Given the description of an element on the screen output the (x, y) to click on. 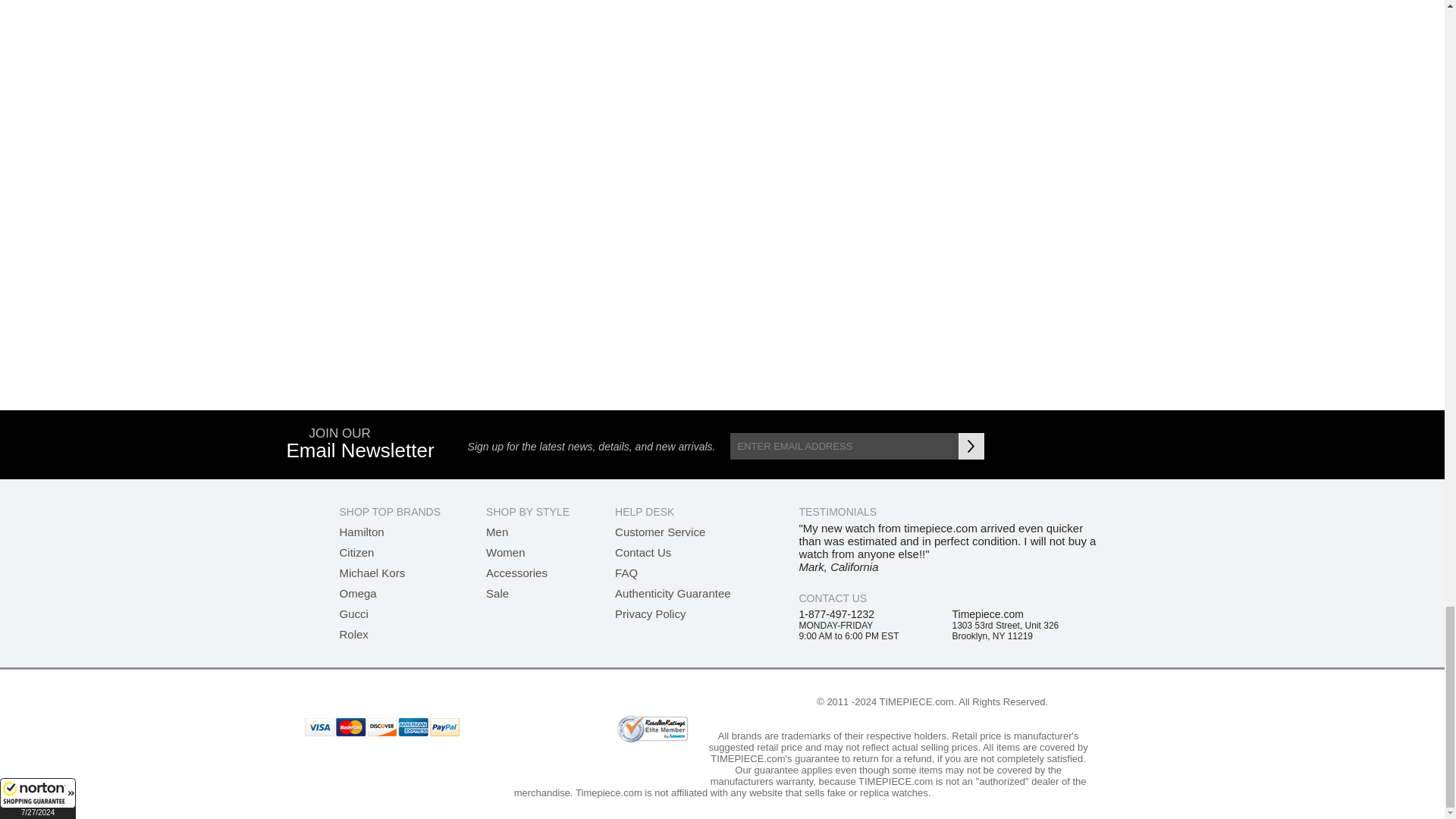
ENTER EMAIL ADDRESS (843, 446)
